Given the description of an element on the screen output the (x, y) to click on. 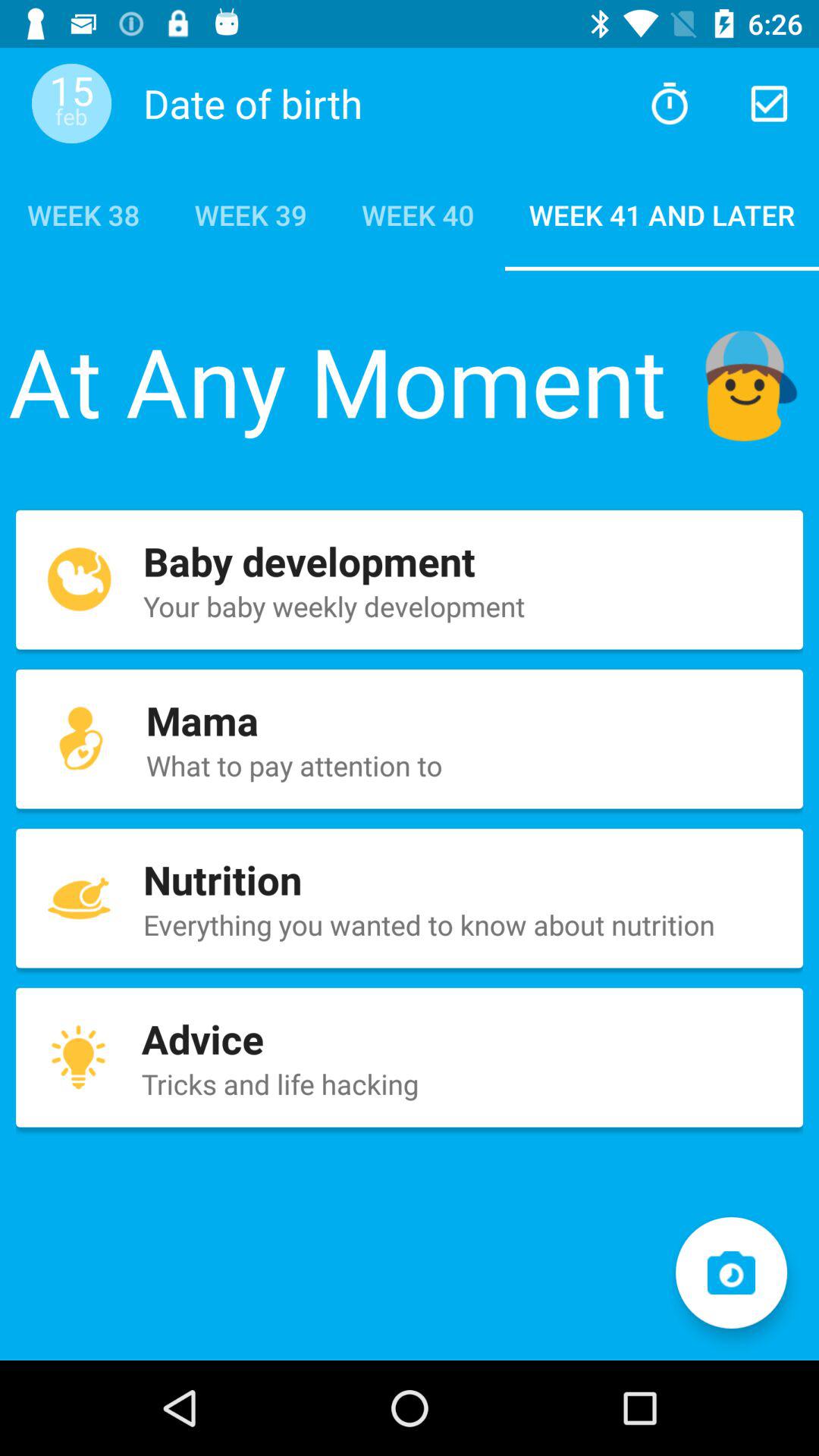
take a picture (731, 1272)
